Given the description of an element on the screen output the (x, y) to click on. 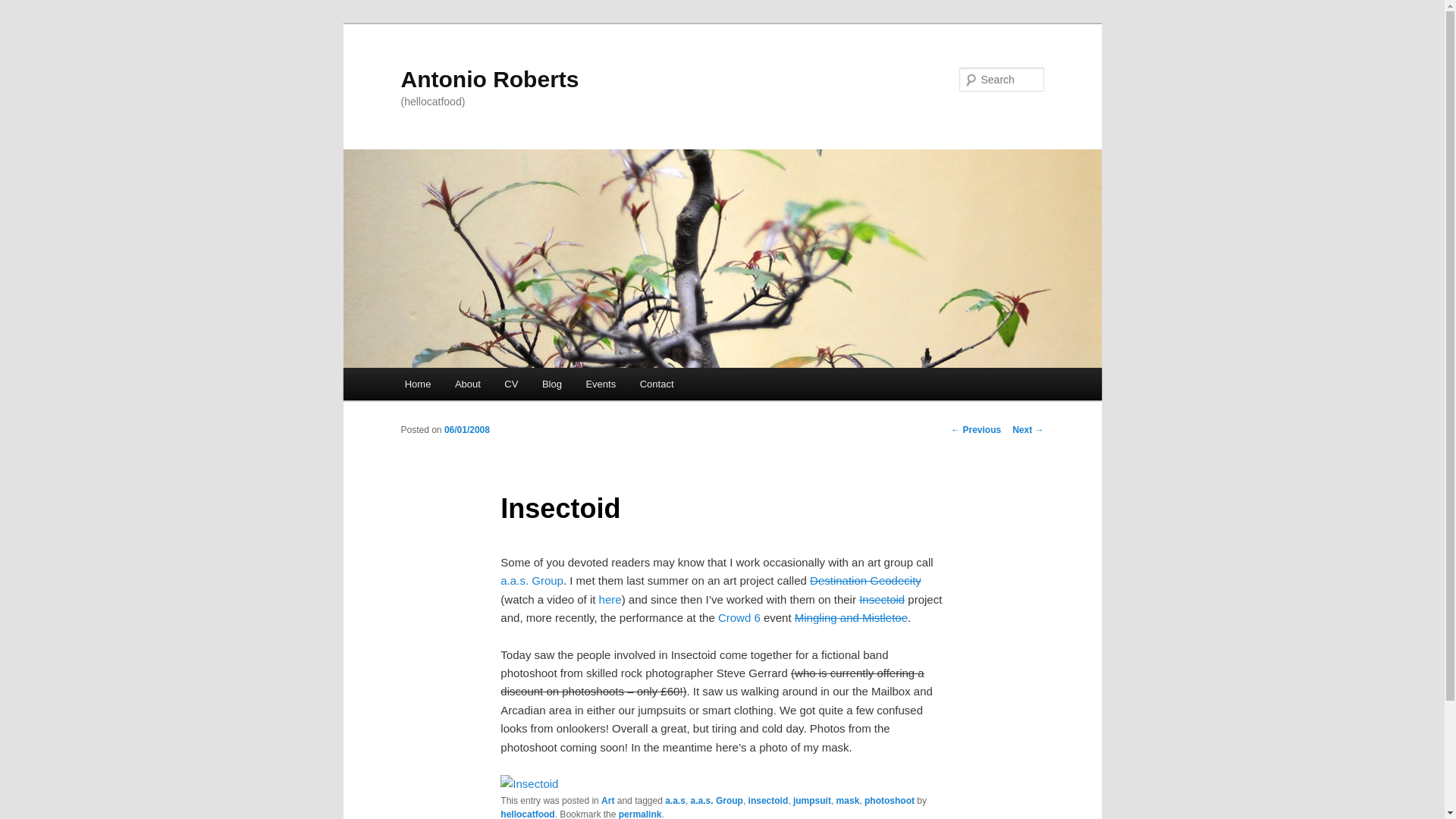
Events (600, 383)
Blog (551, 383)
a.a.s (675, 800)
Insectoid by hellocatfood, on Flickr (528, 783)
a.a.s. Group (531, 580)
jumpsuit (812, 800)
About (467, 383)
Contact (656, 383)
here (609, 599)
CV (512, 383)
Mingling and Mistletoe (850, 617)
Art (607, 800)
Antonio Roberts (489, 78)
Search (24, 8)
permalink (640, 814)
